Given the description of an element on the screen output the (x, y) to click on. 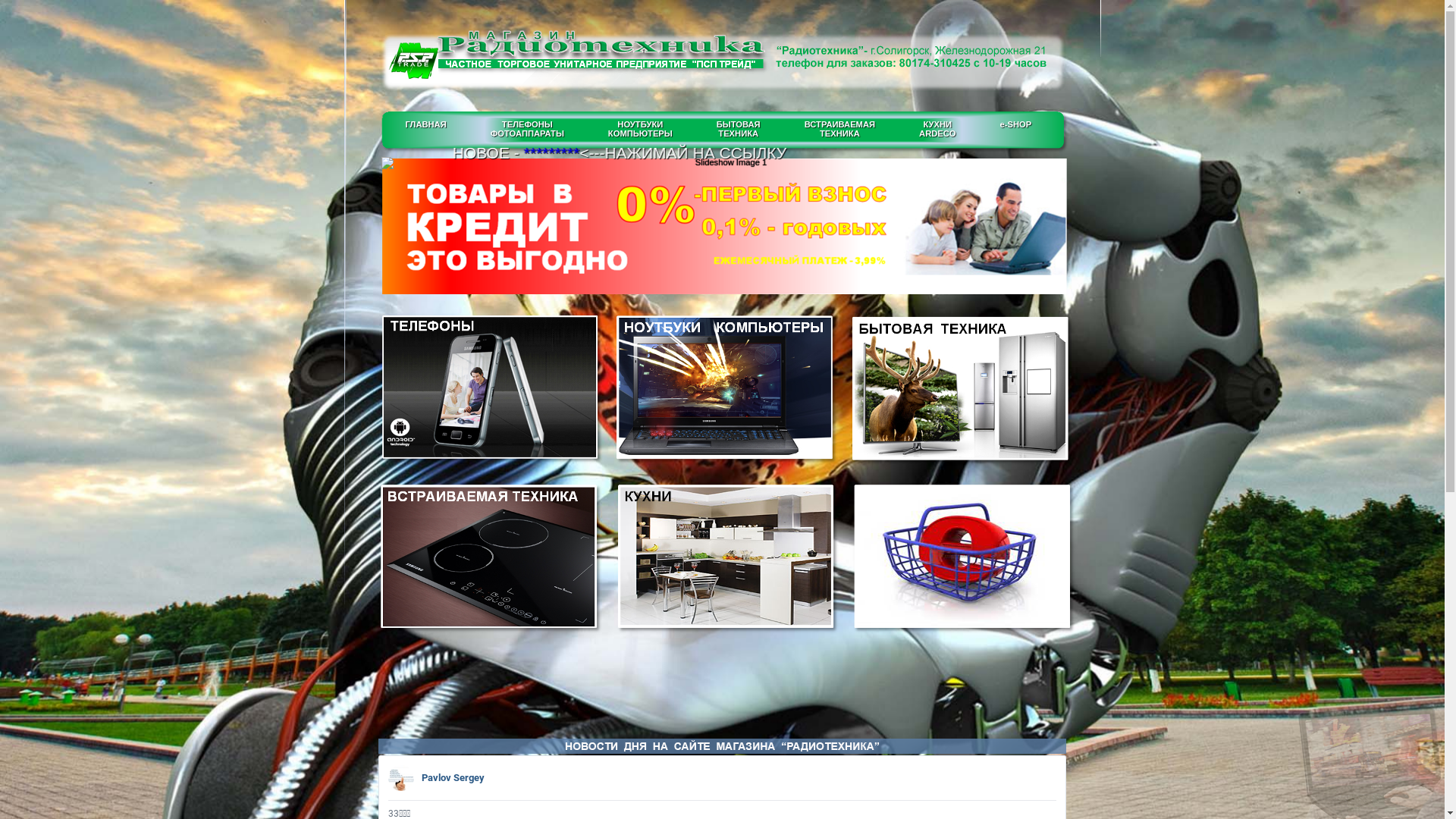
********* Element type: text (584, 152)
e-SHOP Element type: text (1016, 123)
